Given the description of an element on the screen output the (x, y) to click on. 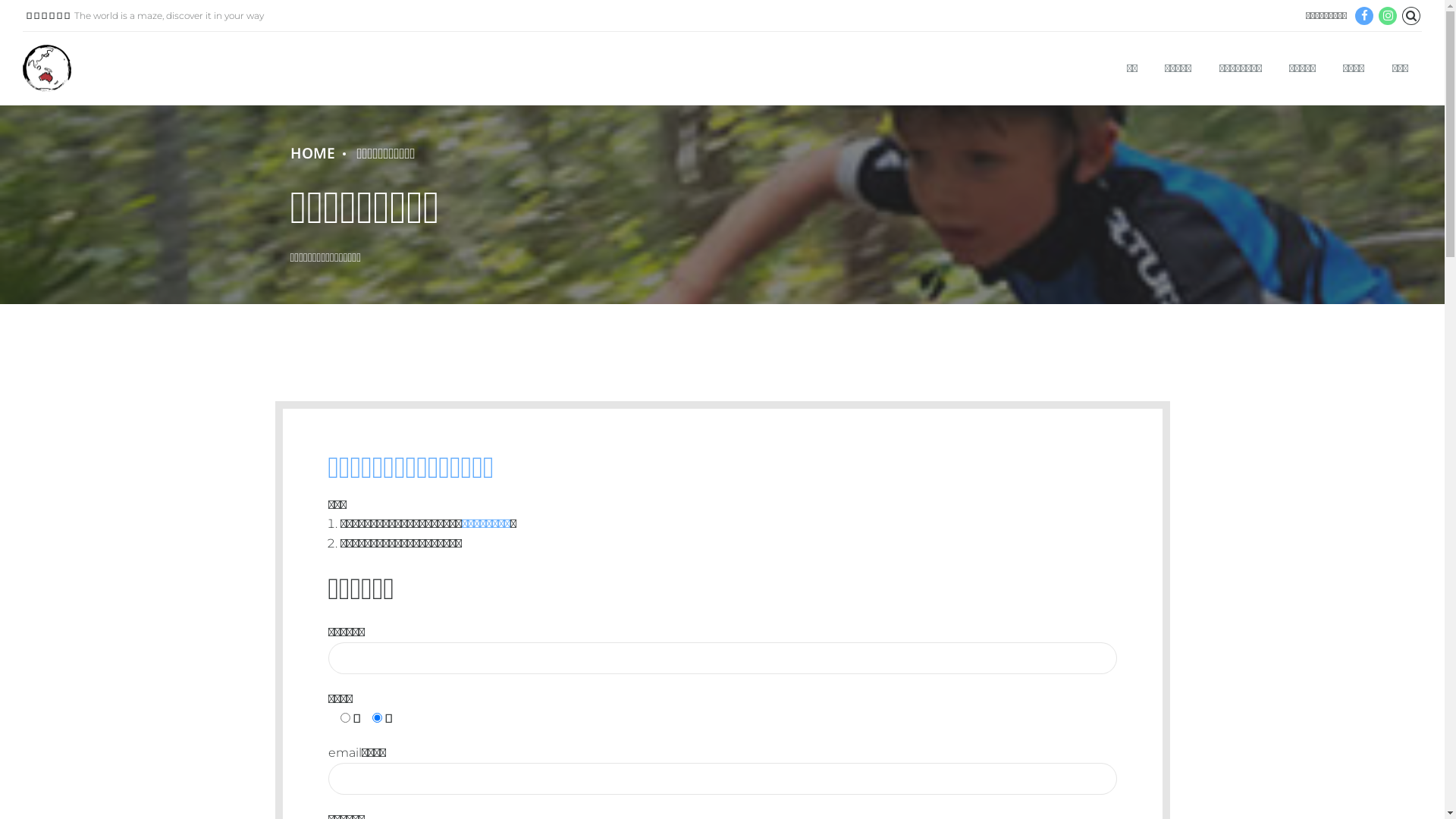
HOME Element type: text (311, 153)
